Given the description of an element on the screen output the (x, y) to click on. 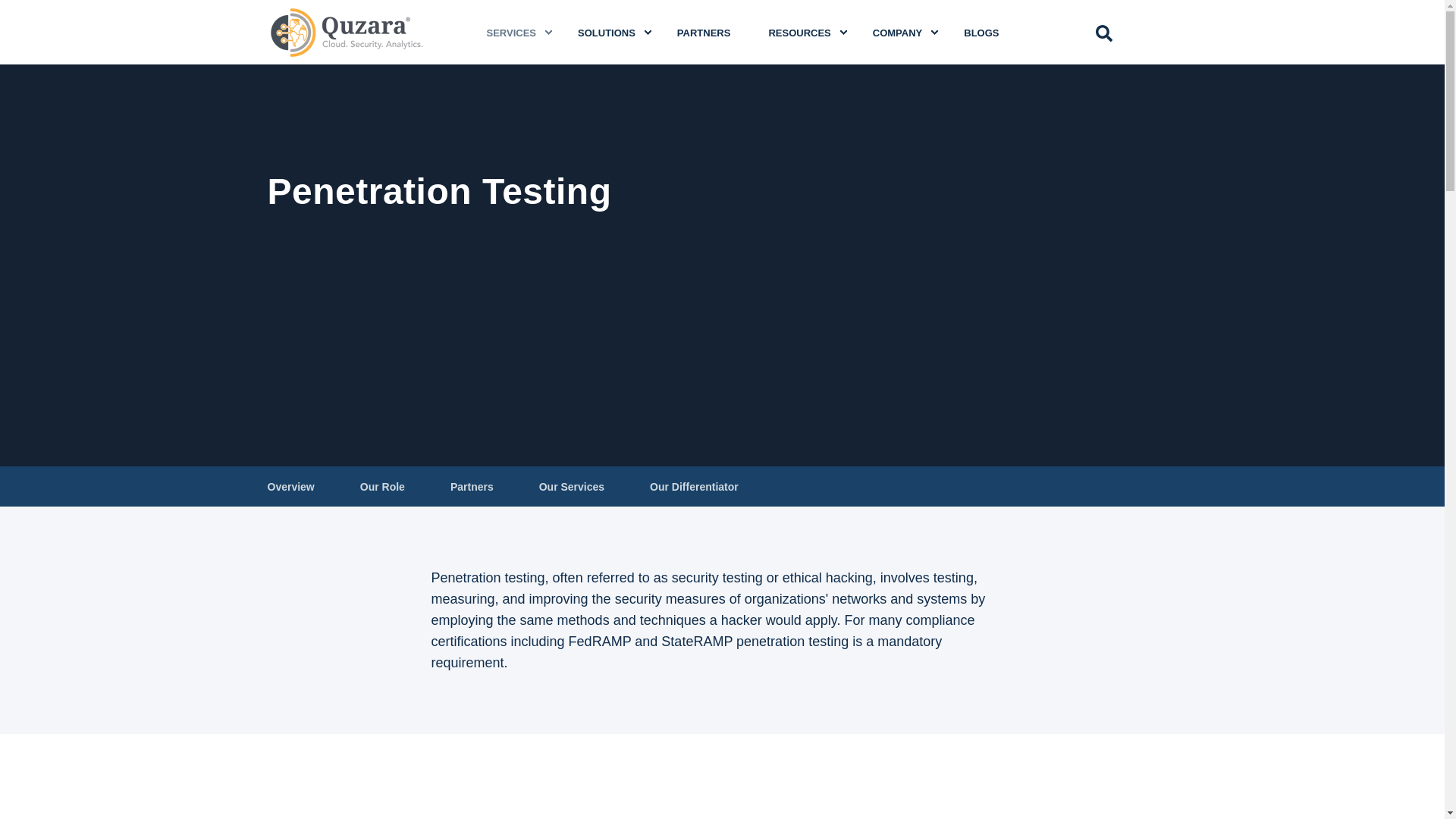
OverviewOur RolePartnersOur ServicesOur Differentiator (721, 486)
OverviewOur RolePartnersOur ServicesOur Differentiator (721, 486)
